Given the description of an element on the screen output the (x, y) to click on. 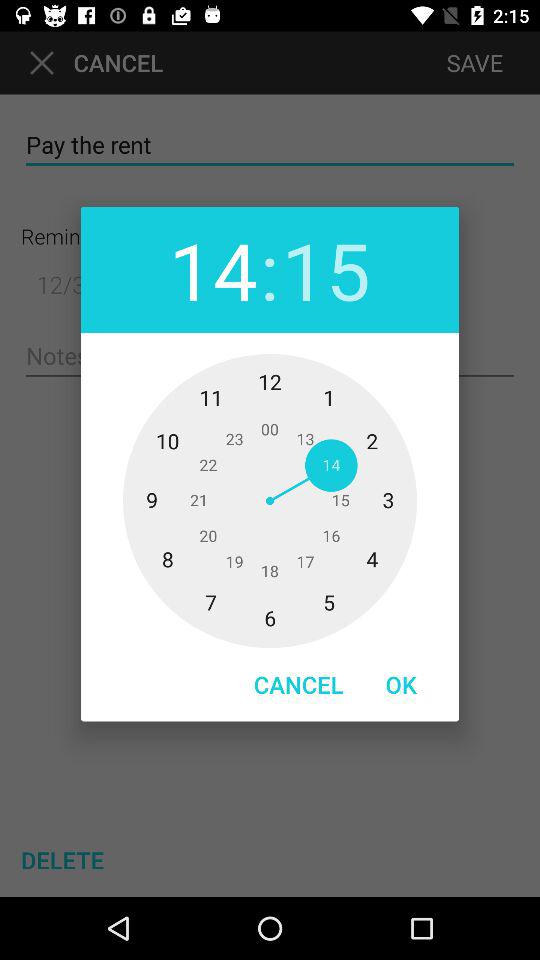
tap icon to the left of the : (213, 269)
